Given the description of an element on the screen output the (x, y) to click on. 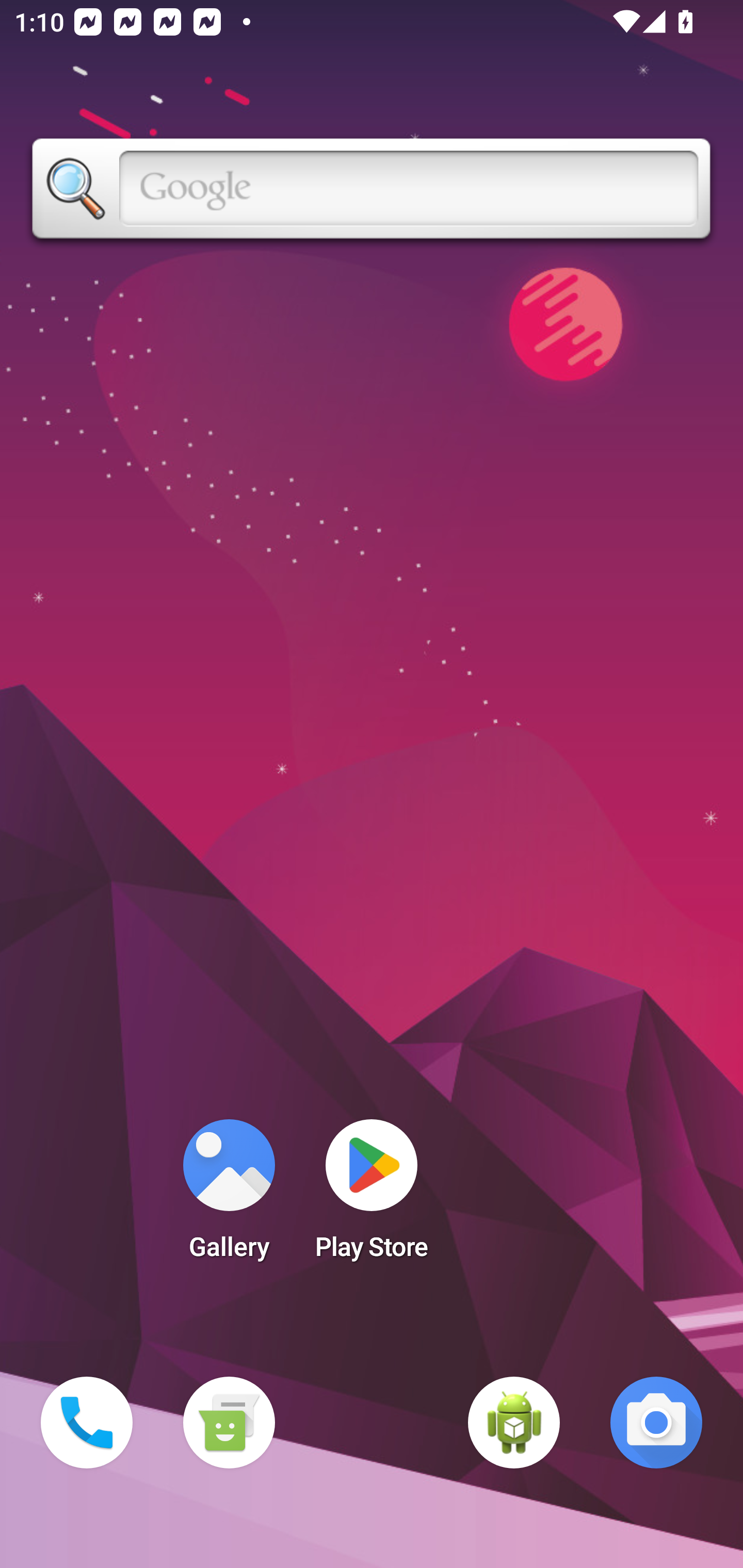
Gallery (228, 1195)
Play Store (371, 1195)
Phone (86, 1422)
Messaging (228, 1422)
WebView Browser Tester (513, 1422)
Camera (656, 1422)
